Given the description of an element on the screen output the (x, y) to click on. 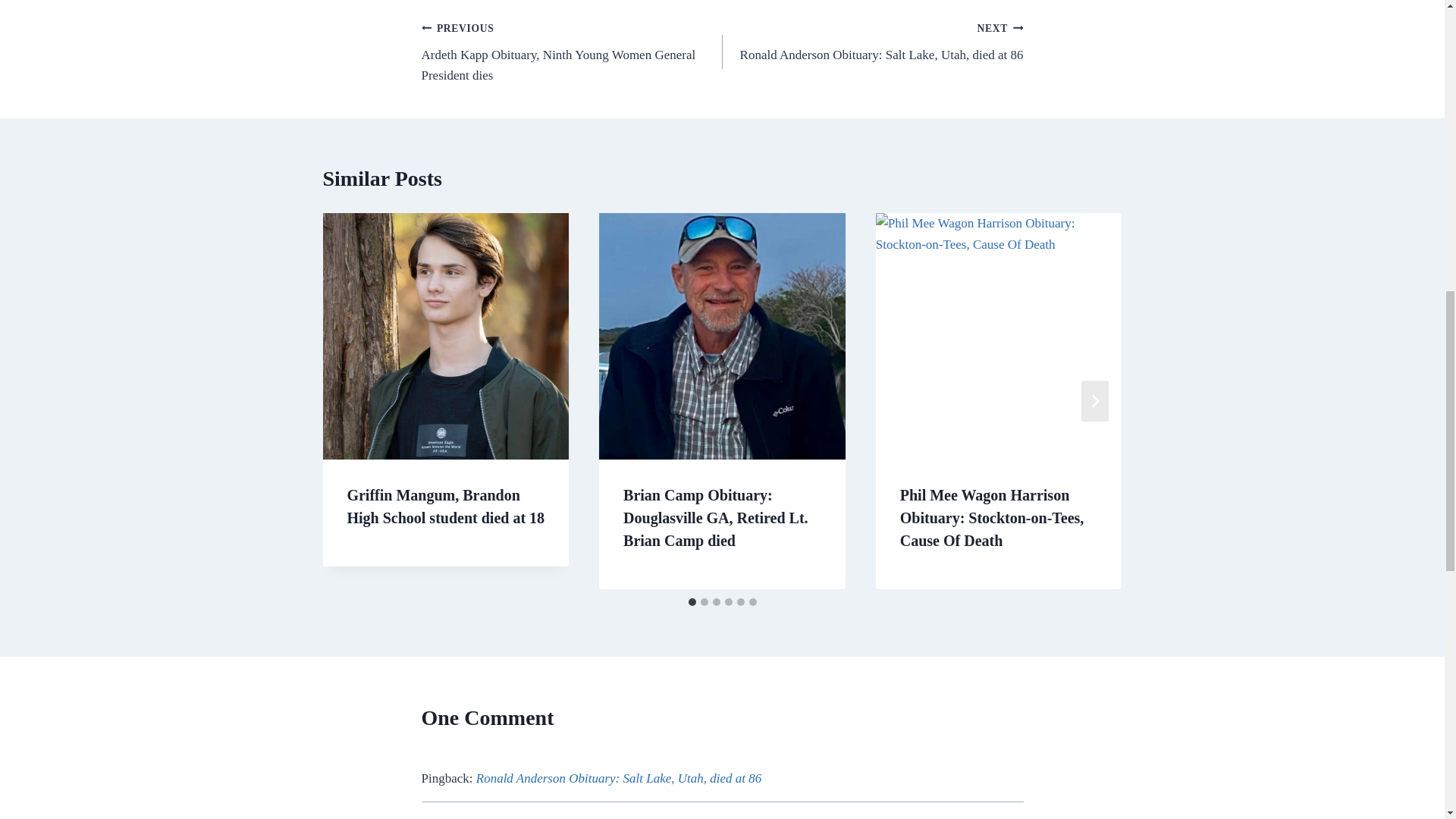
Griffin Mangum, Brandon High School student died at 18 (872, 41)
